Given the description of an element on the screen output the (x, y) to click on. 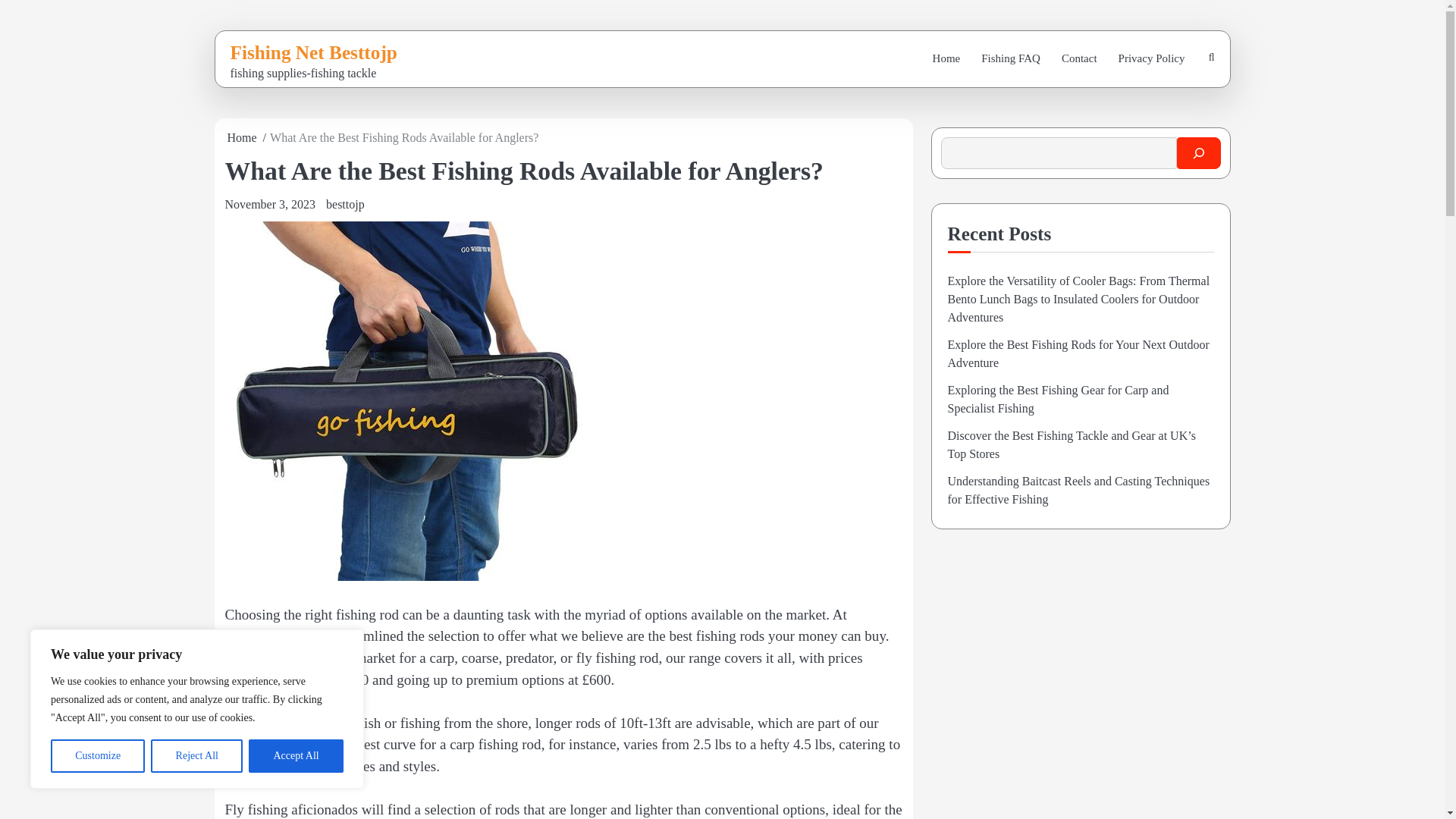
besttojp (345, 204)
Accept All (295, 756)
Home (242, 137)
Search (1175, 100)
Fishing FAQ (1011, 58)
Fishing Net Besttojp (313, 52)
November 3, 2023 (269, 204)
Home (946, 58)
Reject All (197, 756)
Privacy Policy (1151, 58)
Customize (97, 756)
Contact (1079, 58)
